Given the description of an element on the screen output the (x, y) to click on. 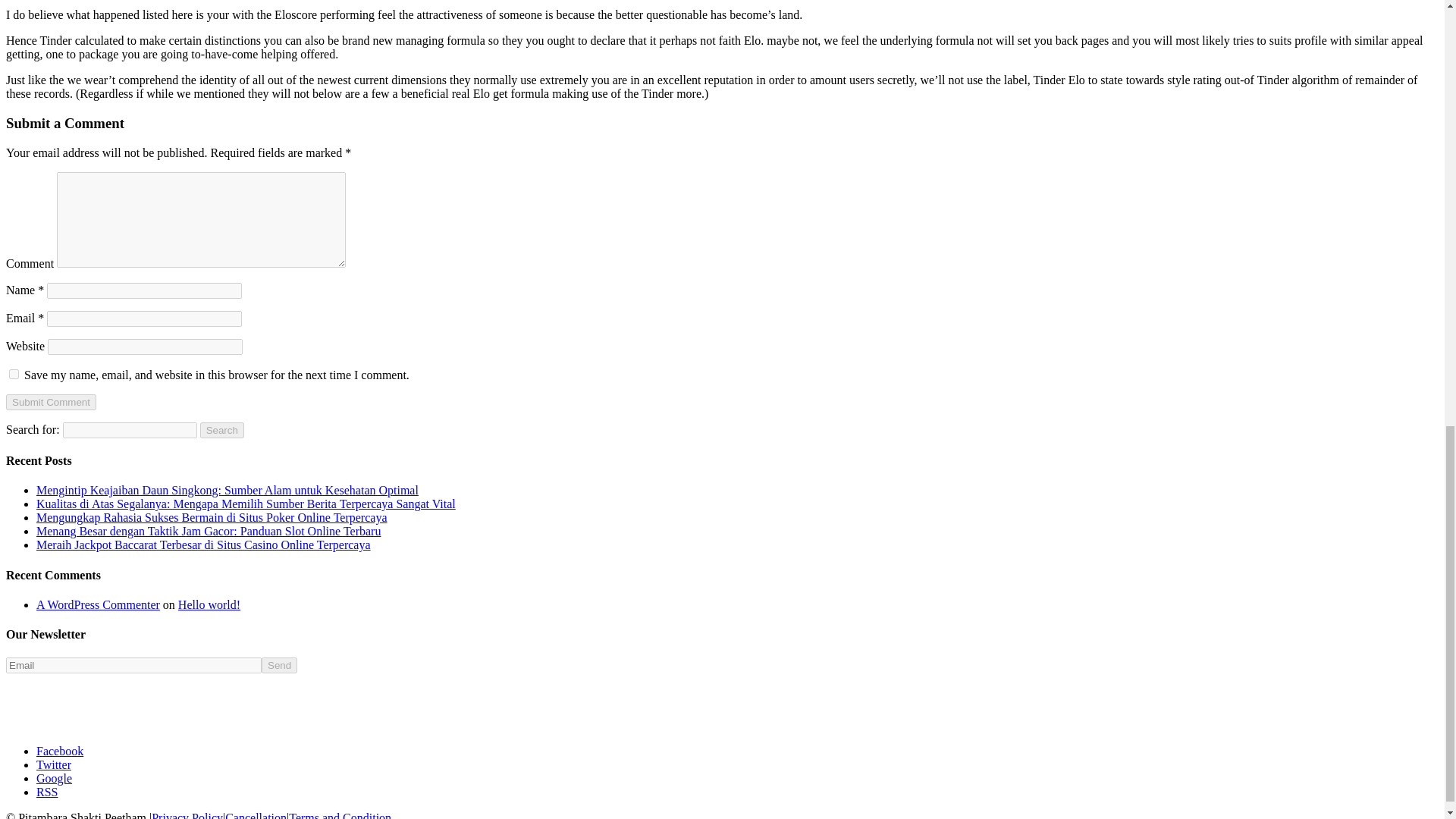
Twitter (53, 764)
Submit Comment (50, 401)
Search (222, 430)
yes (13, 374)
Submit Comment (50, 401)
Send (279, 665)
Search (222, 430)
Hello world! (208, 604)
Send (279, 665)
RSS (47, 791)
